Given the description of an element on the screen output the (x, y) to click on. 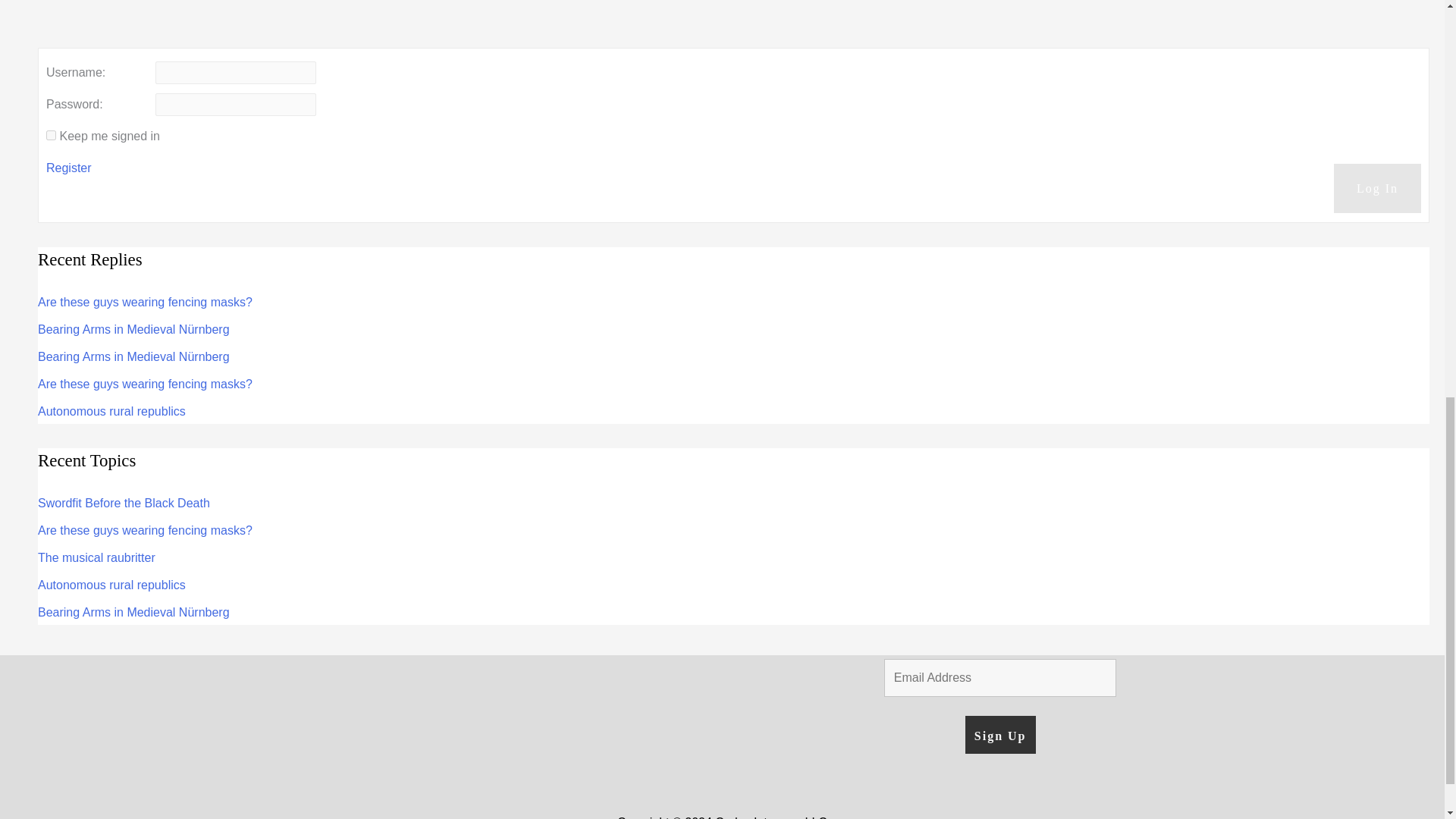
Register (68, 168)
forever (51, 135)
Sign Up (1000, 734)
